Given the description of an element on the screen output the (x, y) to click on. 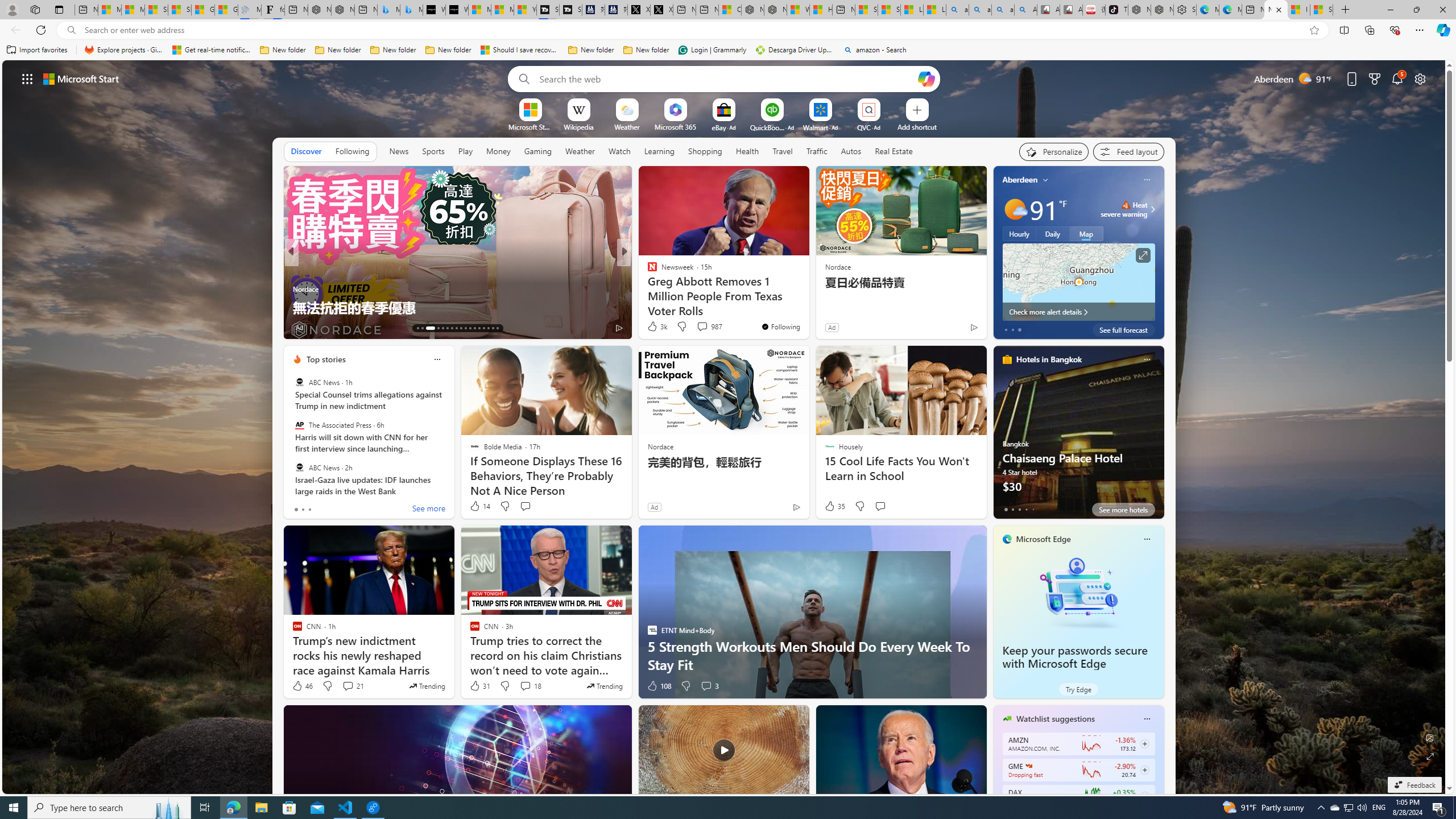
Descarga Driver Updater (794, 49)
View comments 85 Comment (704, 327)
See full forecast (1123, 329)
Hotels in Bangkok (1048, 359)
View comments 1 Comment (698, 327)
PsychLove (647, 270)
AutomationID: tab-19 (451, 328)
Autos (851, 151)
